Given the description of an element on the screen output the (x, y) to click on. 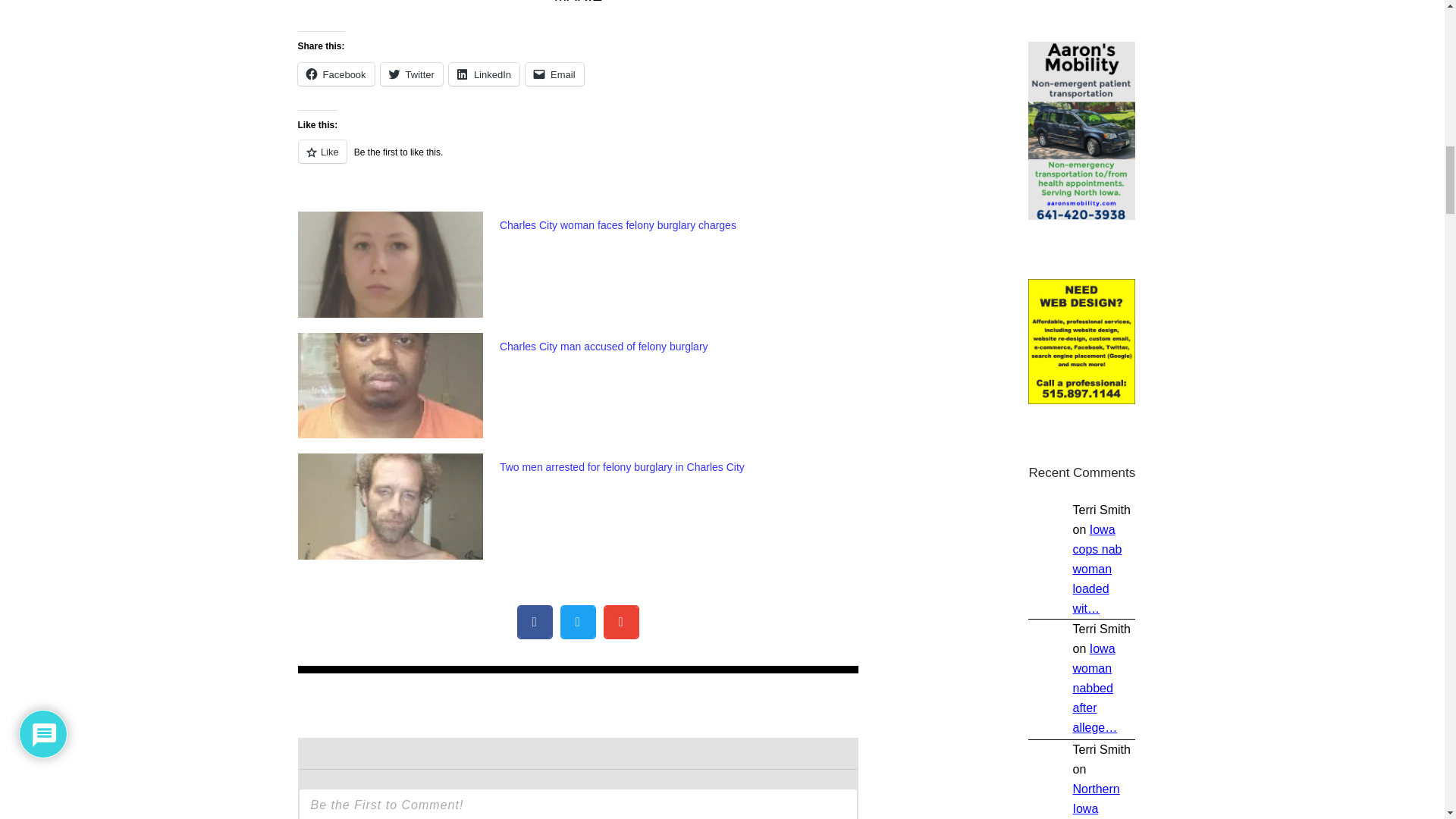
Email (554, 74)
Facebook (335, 74)
Click to share on LinkedIn (483, 74)
Charles City man accused of felony burglary (603, 346)
Like or Reblog (578, 159)
LinkedIn (483, 74)
Click to share on Twitter (411, 74)
Click to email a link to a friend (554, 74)
Charles City woman faces felony burglary charges (617, 224)
Two men arrested for felony burglary in Charles City (621, 467)
Charles City man accused of felony burglary (603, 346)
Twitter (411, 74)
Charles City woman faces felony burglary charges (617, 224)
Click to share on Facebook (335, 74)
